Given the description of an element on the screen output the (x, y) to click on. 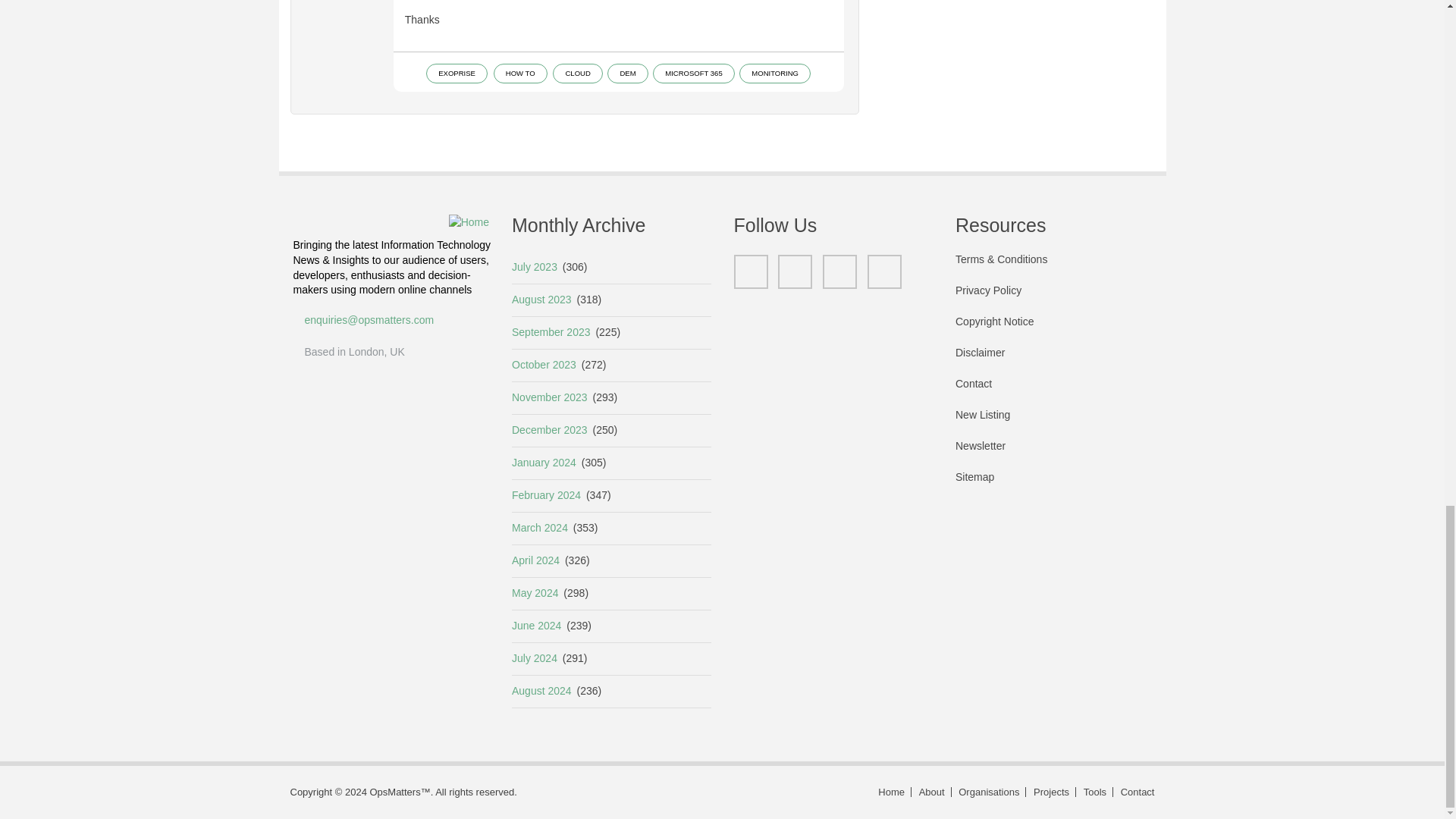
Home (468, 221)
Takes you back to the homepage (892, 791)
Subscribe to our newsletter (1054, 453)
Contact us (1135, 791)
